Given the description of an element on the screen output the (x, y) to click on. 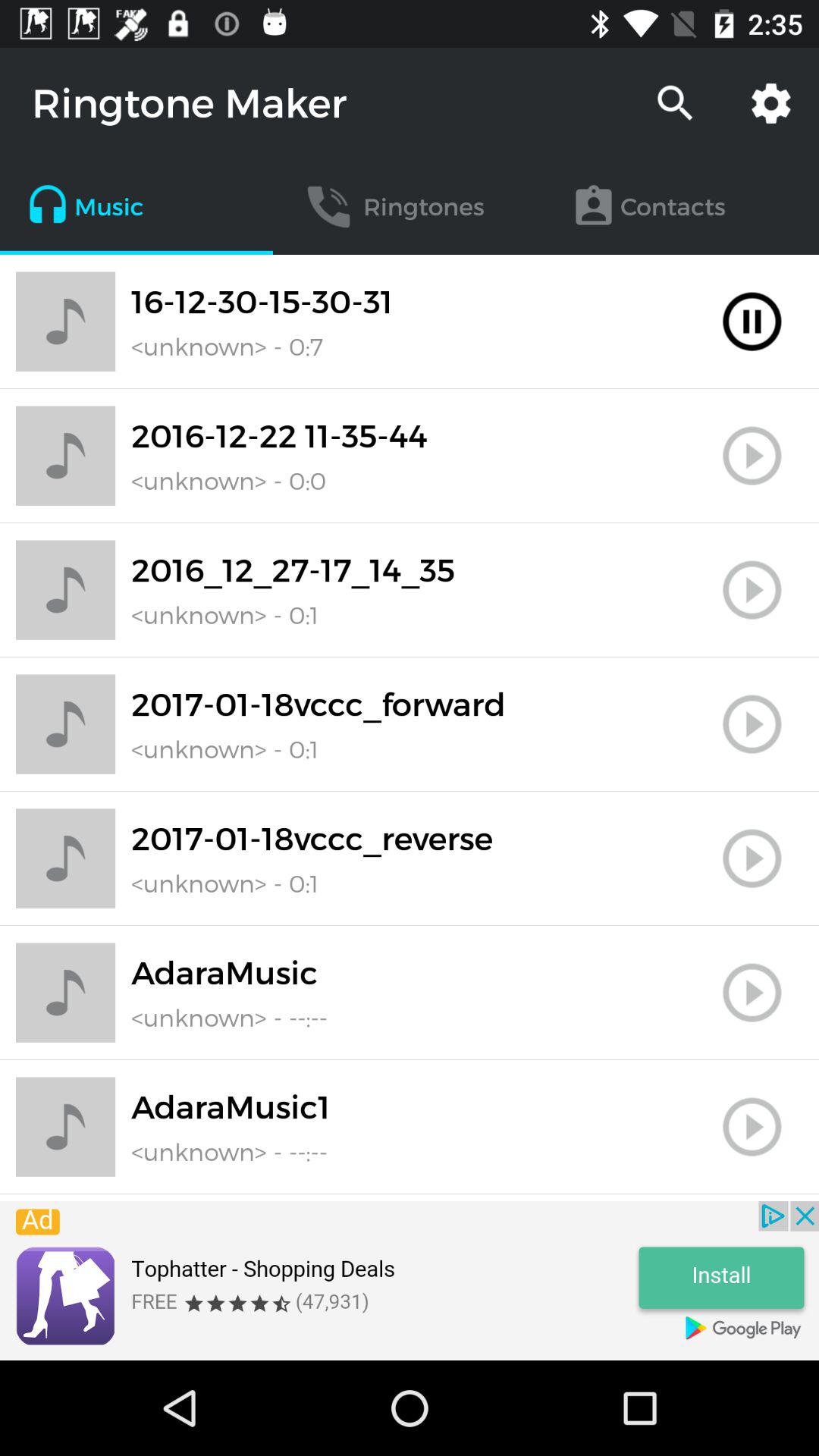
play track (752, 724)
